Given the description of an element on the screen output the (x, y) to click on. 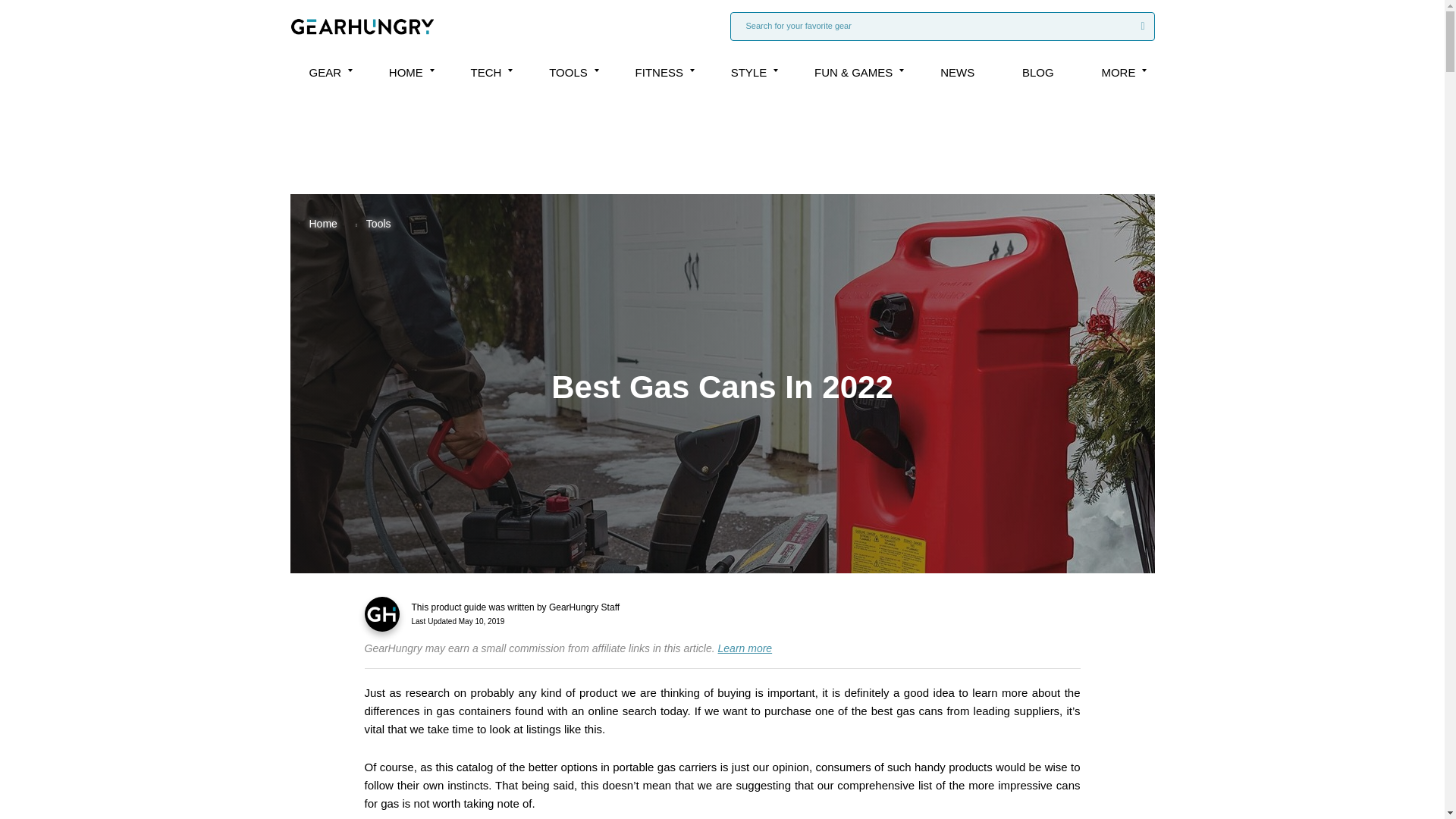
TECH (486, 72)
TOOLS (568, 72)
HOME (405, 72)
GEAR (324, 72)
FITNESS (658, 72)
